Given the description of an element on the screen output the (x, y) to click on. 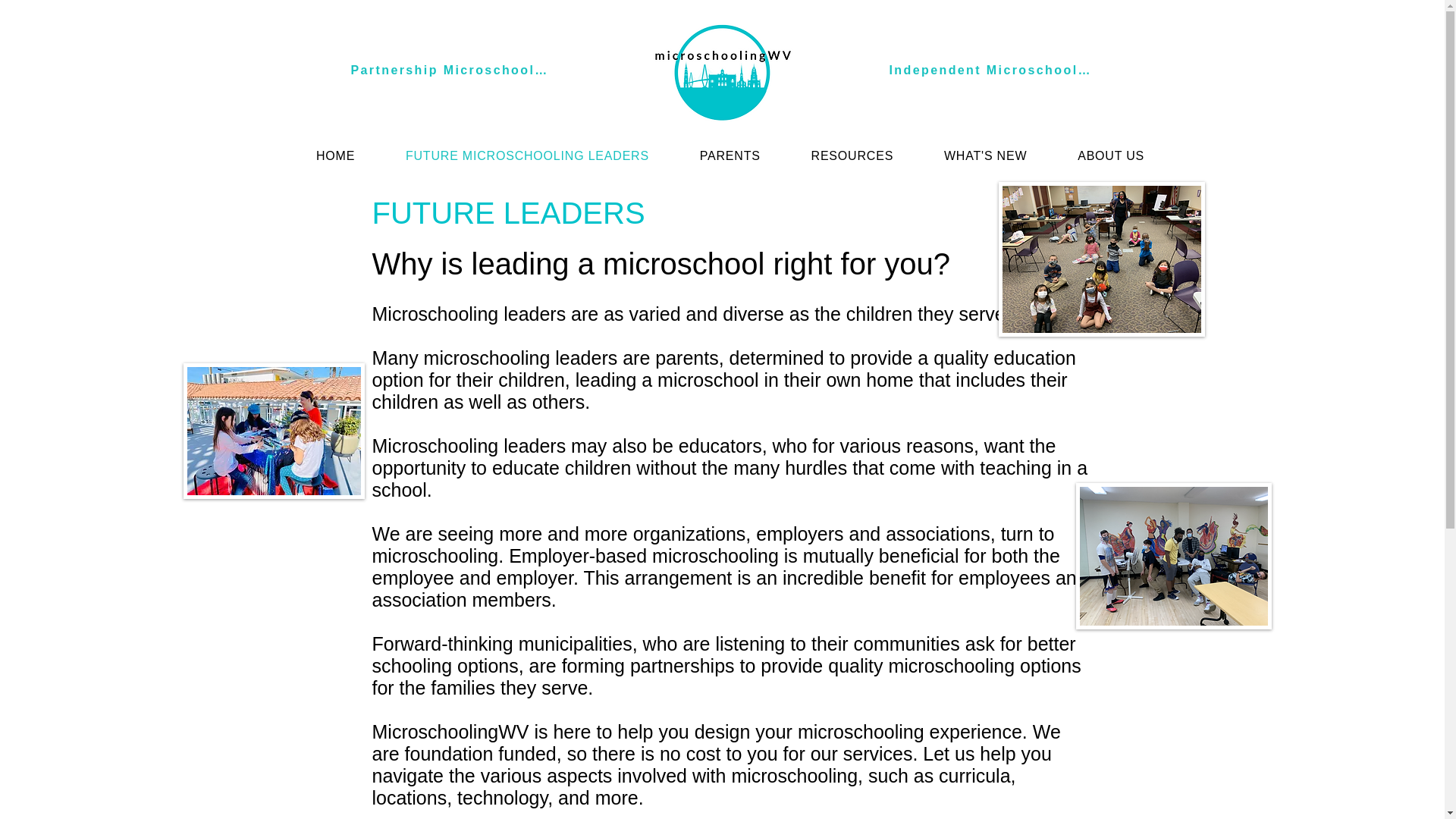
HOME (335, 155)
ABOUT US (1111, 155)
Independent Microschooling (990, 70)
RESOURCES (852, 155)
FUTURE MICROSCHOOLING LEADERS (527, 155)
PARENTS (730, 155)
WHAT'S NEW (985, 155)
Partnership Microschooling (450, 70)
